Given the description of an element on the screen output the (x, y) to click on. 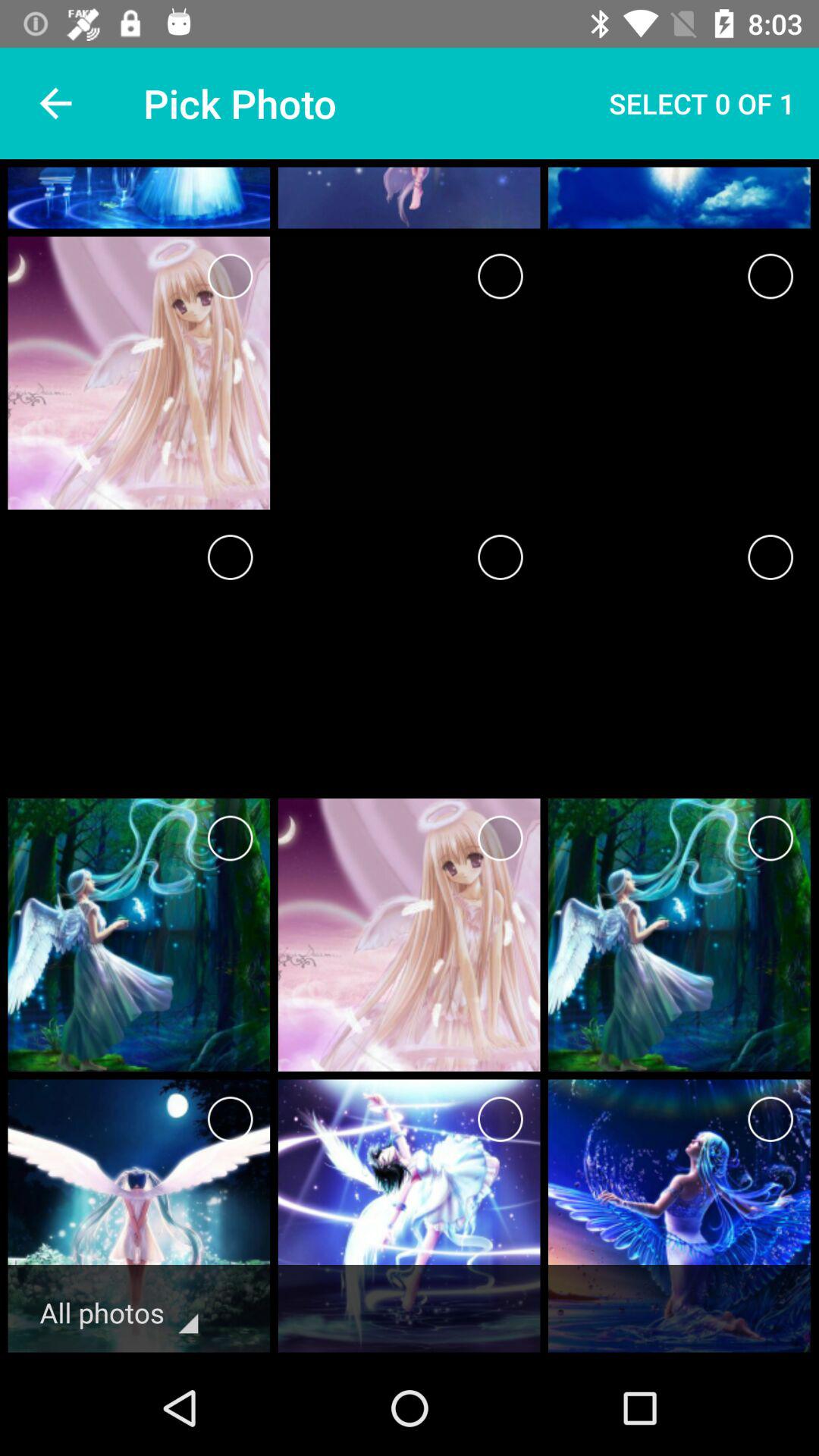
menu pega (770, 838)
